Given the description of an element on the screen output the (x, y) to click on. 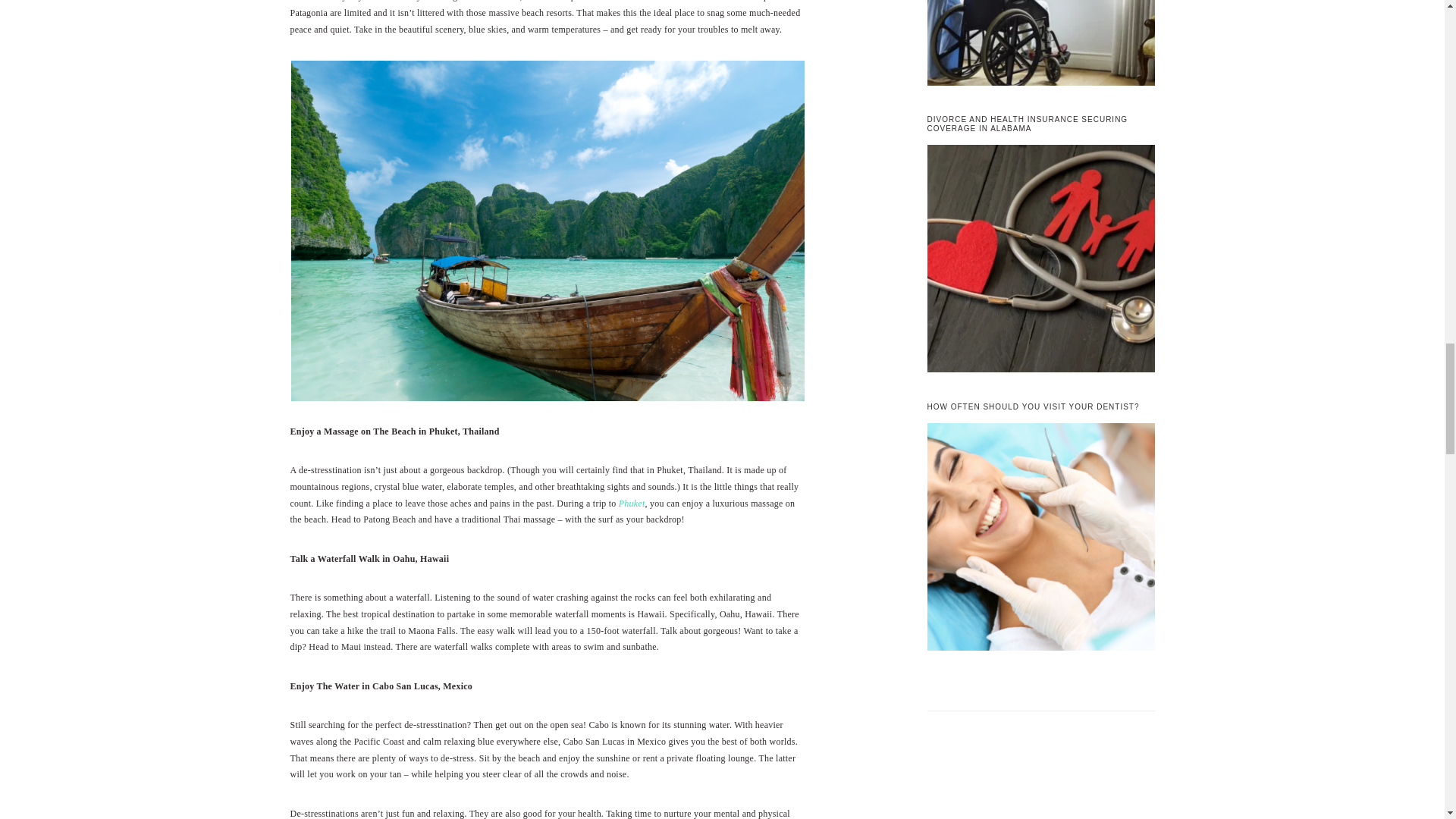
3 Factors to Consider When Choosing a Home Care Provider (1040, 45)
How Often Should You Visit Your Dentist? (1040, 539)
Phuket (631, 502)
Divorce and Health Insurance Securing Coverage in Alabama (1040, 260)
